Given the description of an element on the screen output the (x, y) to click on. 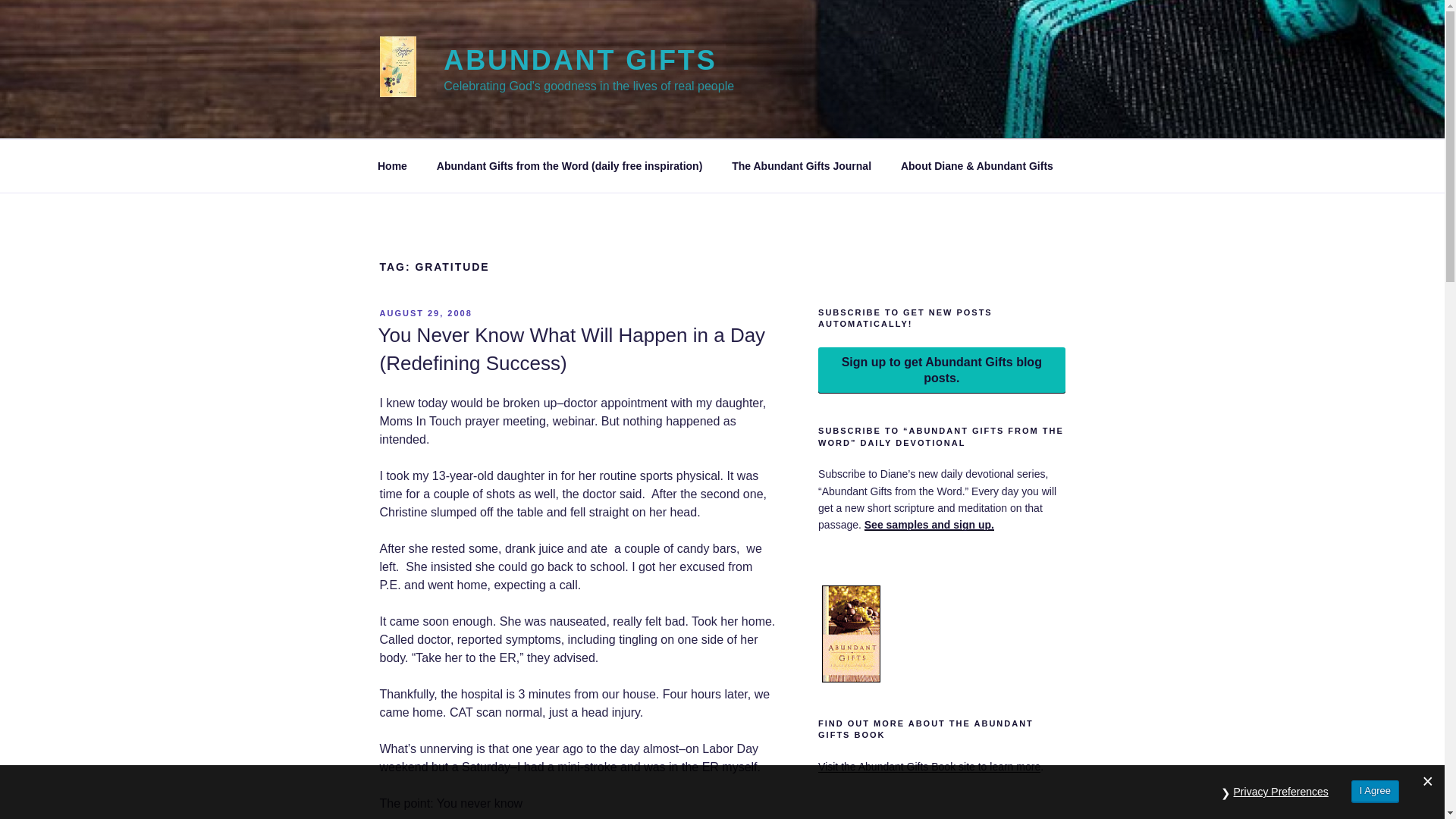
ABUNDANT GIFTS (580, 60)
Visit the Abundant Gifts Book site to learn more (929, 766)
Sign up to get Abundant Gifts blog posts. (941, 370)
The Abundant Gifts Journal (802, 165)
See samples and sign up. (929, 524)
AUGUST 29, 2008 (424, 312)
Home (392, 165)
